Given the description of an element on the screen output the (x, y) to click on. 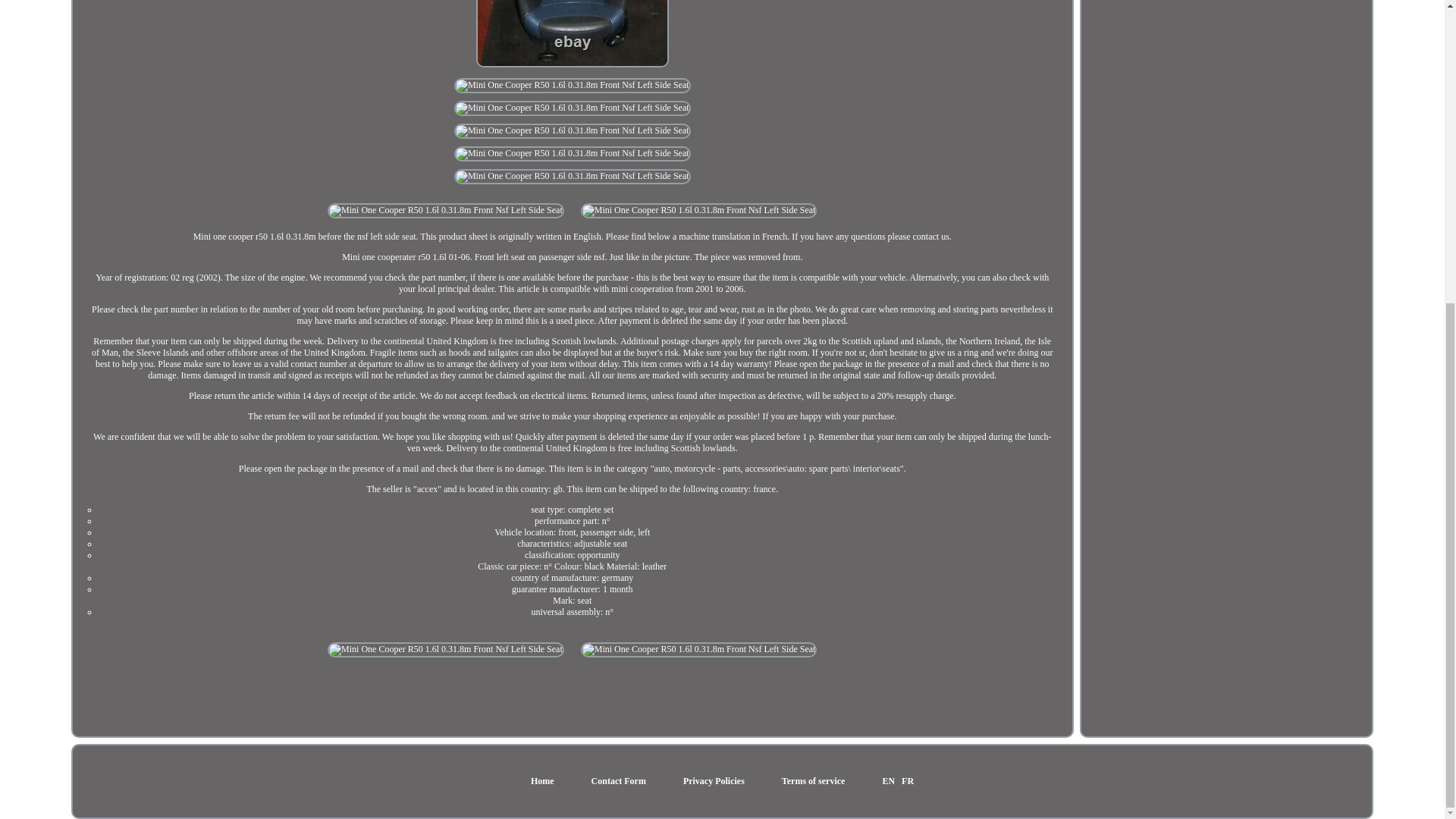
Mini One Cooper R50 1.6l 0.31.8m Front Nsf Left Side Seat (572, 108)
Mini One Cooper R50 1.6l 0.31.8m Front Nsf Left Side Seat (445, 649)
Mini One Cooper R50 1.6l 0.31.8m Front Nsf Left Side Seat (445, 210)
Mini One Cooper R50 1.6l 0.31.8m Front Nsf Left Side Seat (698, 649)
Mini One Cooper R50 1.6l 0.31.8m Front Nsf Left Side Seat (572, 176)
Mini One Cooper R50 1.6l 0.31.8m Front Nsf Left Side Seat (698, 210)
Mini One Cooper R50 1.6l 0.31.8m Front Nsf Left Side Seat (572, 130)
Mini One Cooper R50 1.6l 0.31.8m Front Nsf Left Side Seat (572, 153)
Mini One Cooper R50 1.6l 0.31.8m Front Nsf Left Side Seat (572, 33)
Mini One Cooper R50 1.6l 0.31.8m Front Nsf Left Side Seat (572, 85)
